Given the description of an element on the screen output the (x, y) to click on. 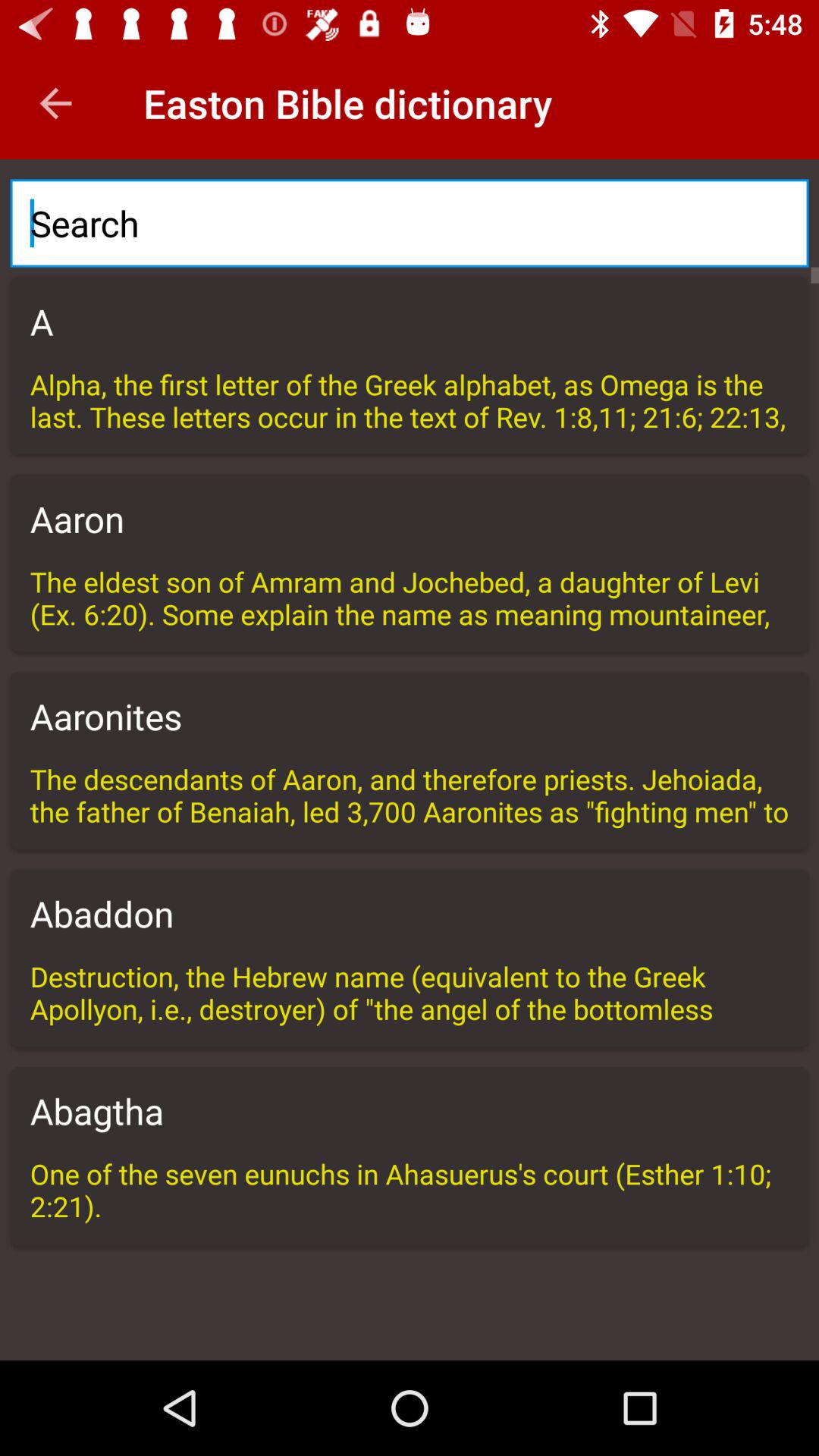
tap the icon above one of the icon (409, 1110)
